Given the description of an element on the screen output the (x, y) to click on. 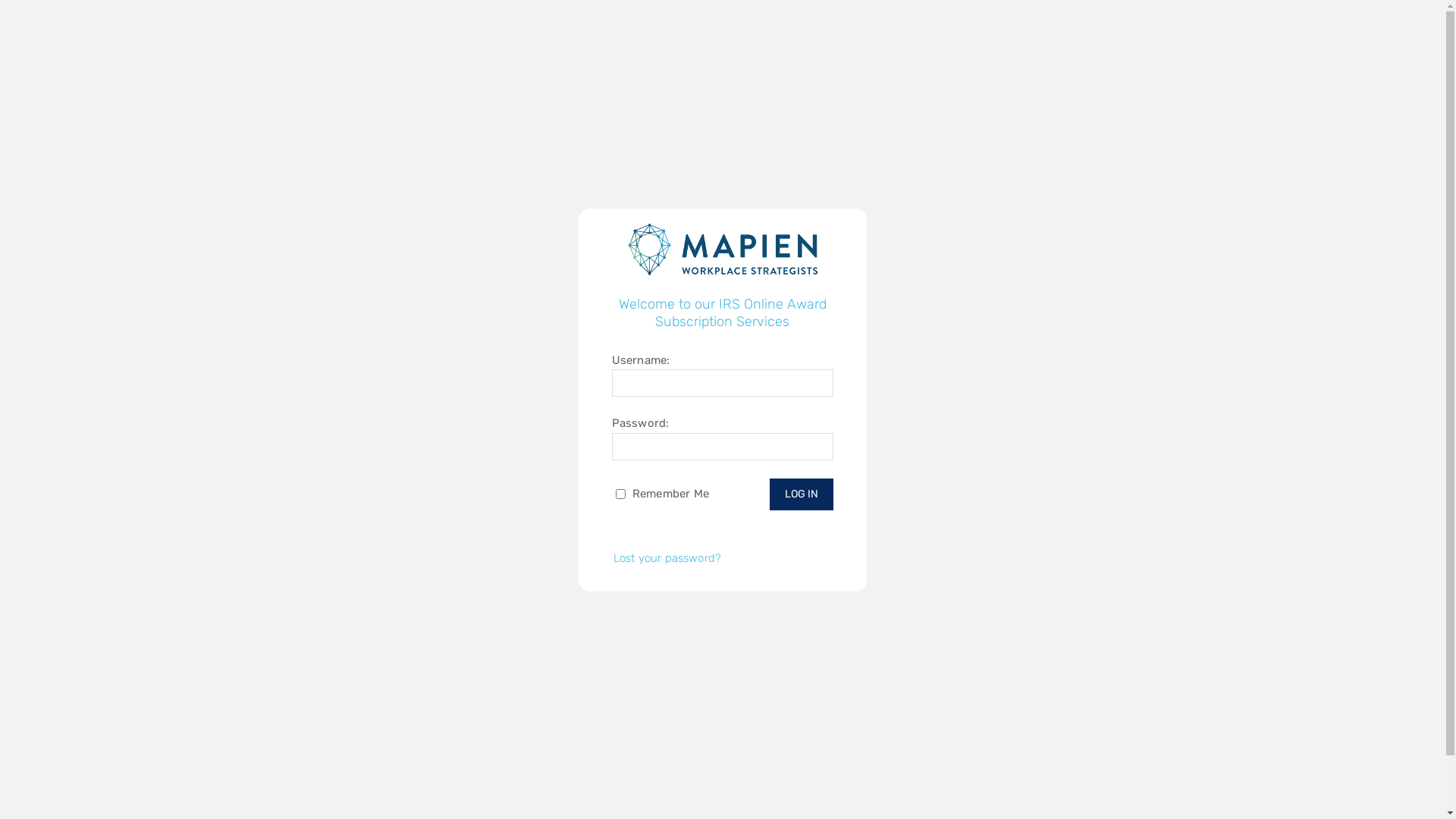
Privacy Policy Element type: text (1107, 783)
Mapien Workplace Strategists Element type: text (993, 783)
Log In Element type: text (800, 494)
Lost your password? Element type: text (666, 557)
